Given the description of an element on the screen output the (x, y) to click on. 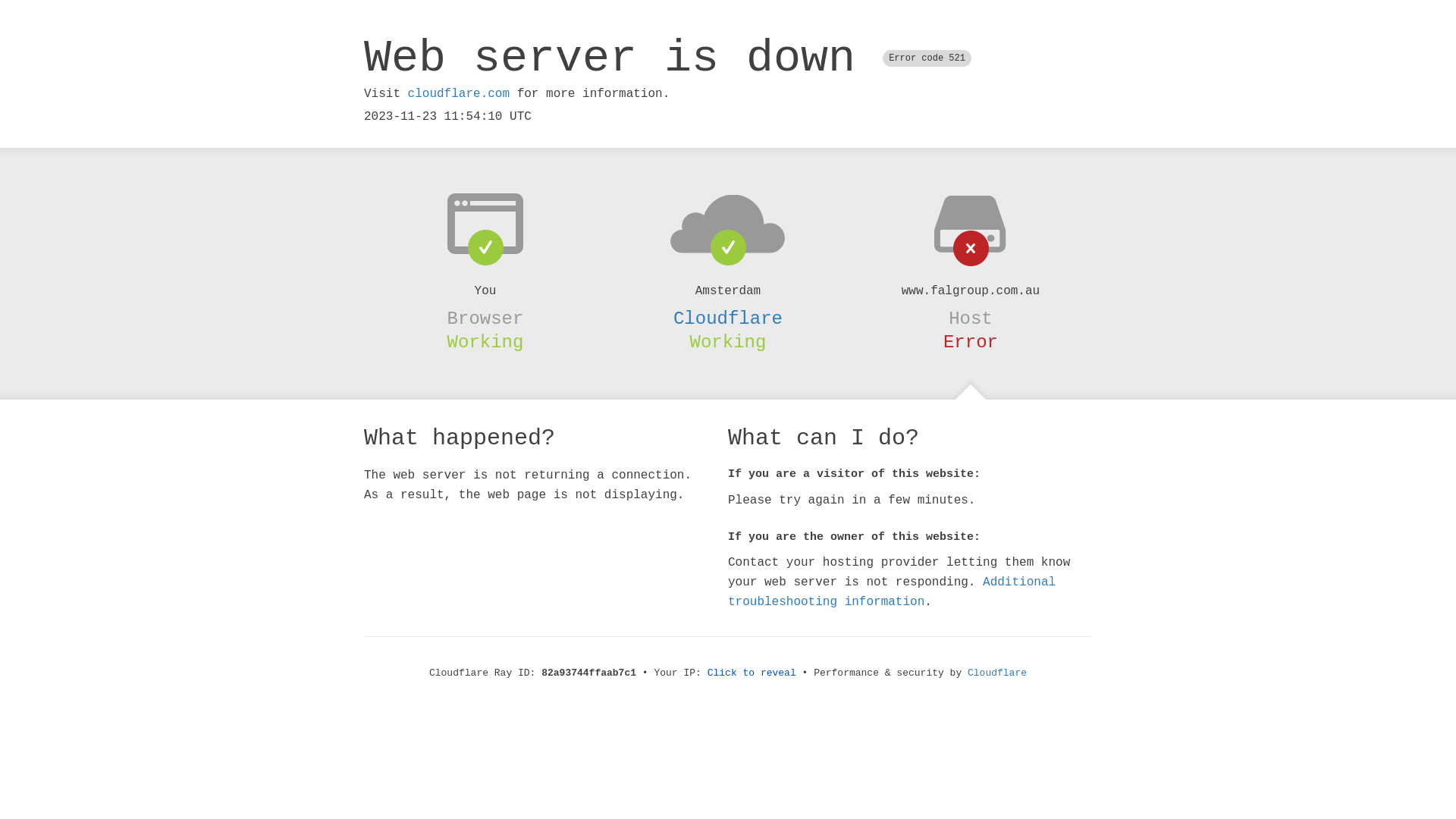
Cloudflare Element type: text (727, 318)
Click to reveal Element type: text (751, 672)
cloudflare.com Element type: text (458, 93)
Additional troubleshooting information Element type: text (891, 591)
Cloudflare Element type: text (996, 672)
